Given the description of an element on the screen output the (x, y) to click on. 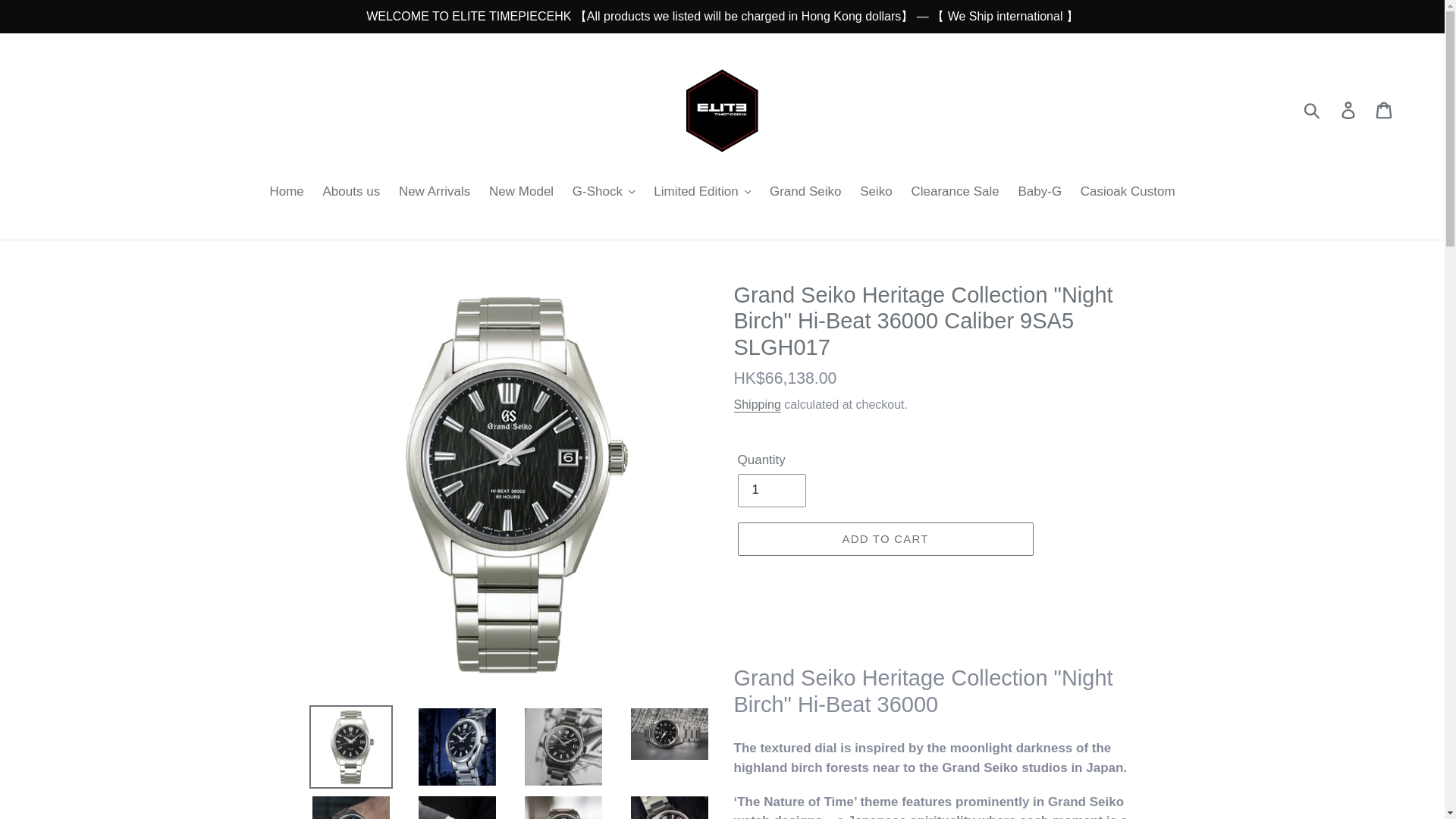
Log in (1349, 109)
1 (770, 490)
Cart (1385, 109)
Submit (1313, 109)
